Given the description of an element on the screen output the (x, y) to click on. 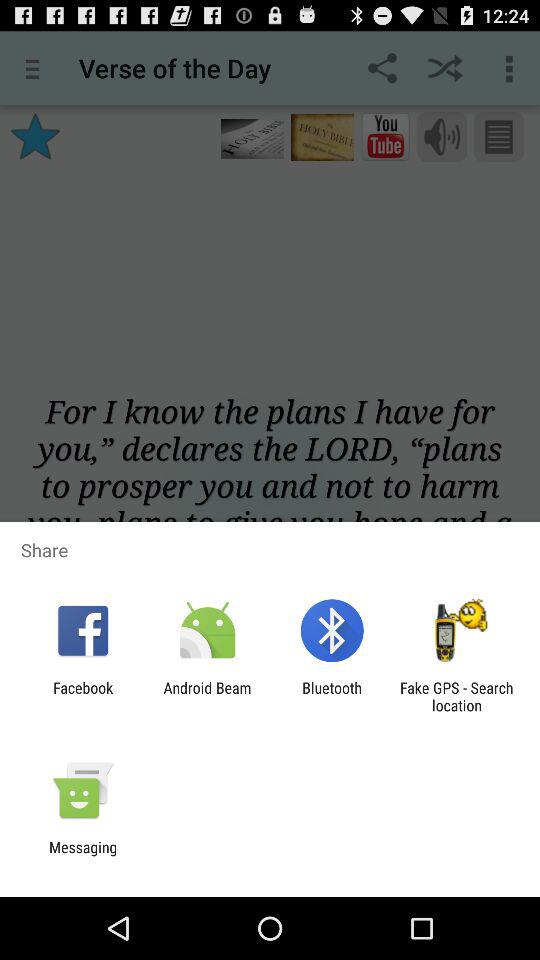
launch the item next to facebook icon (207, 696)
